Given the description of an element on the screen output the (x, y) to click on. 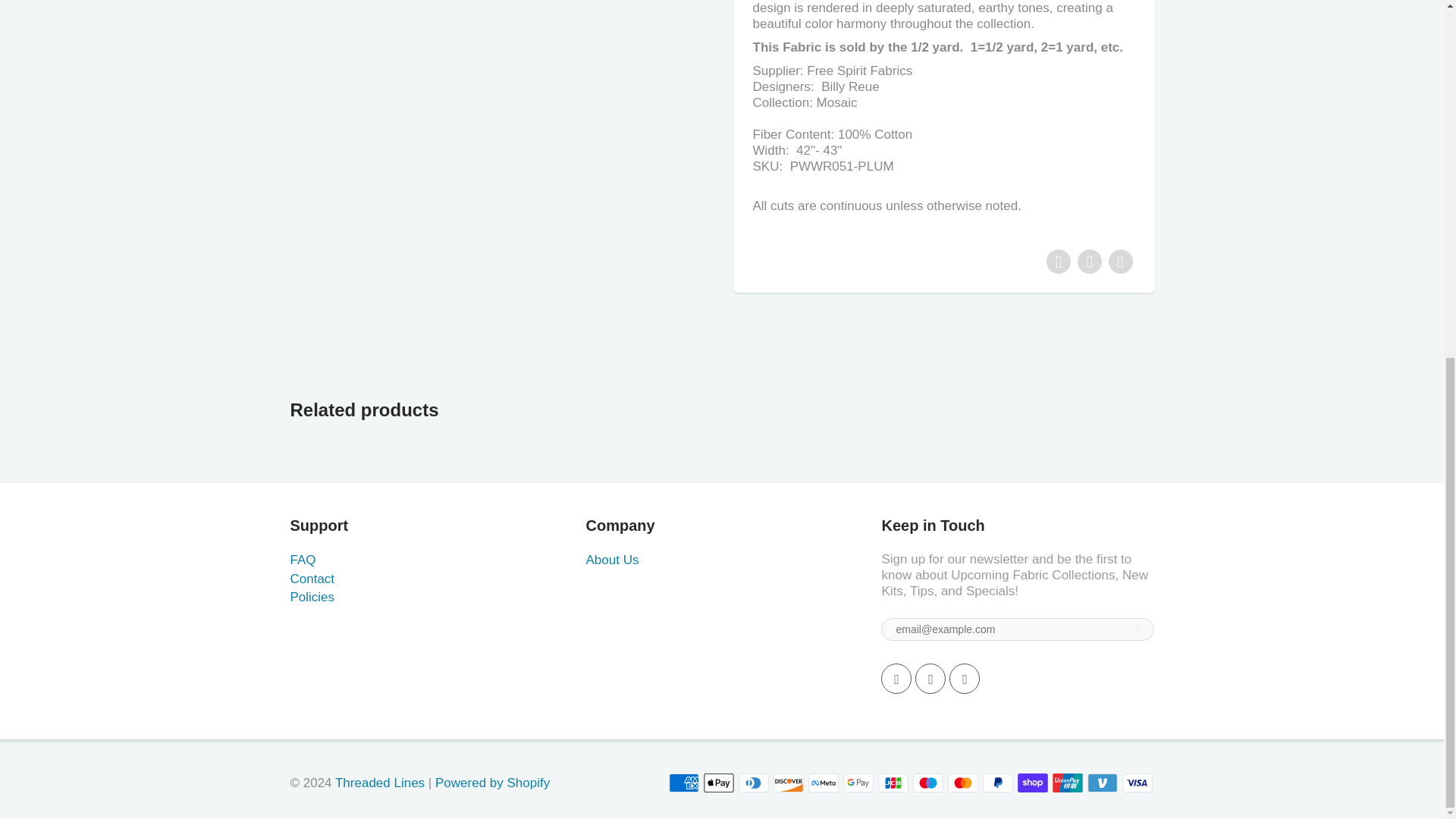
Shop Pay (1032, 782)
Meta Pay (823, 782)
Mastercard (962, 782)
Google Pay (858, 782)
JCB (892, 782)
Diners Club (753, 782)
Maestro (927, 782)
Discover (788, 782)
Apple Pay (718, 782)
Visa (1137, 782)
